Given the description of an element on the screen output the (x, y) to click on. 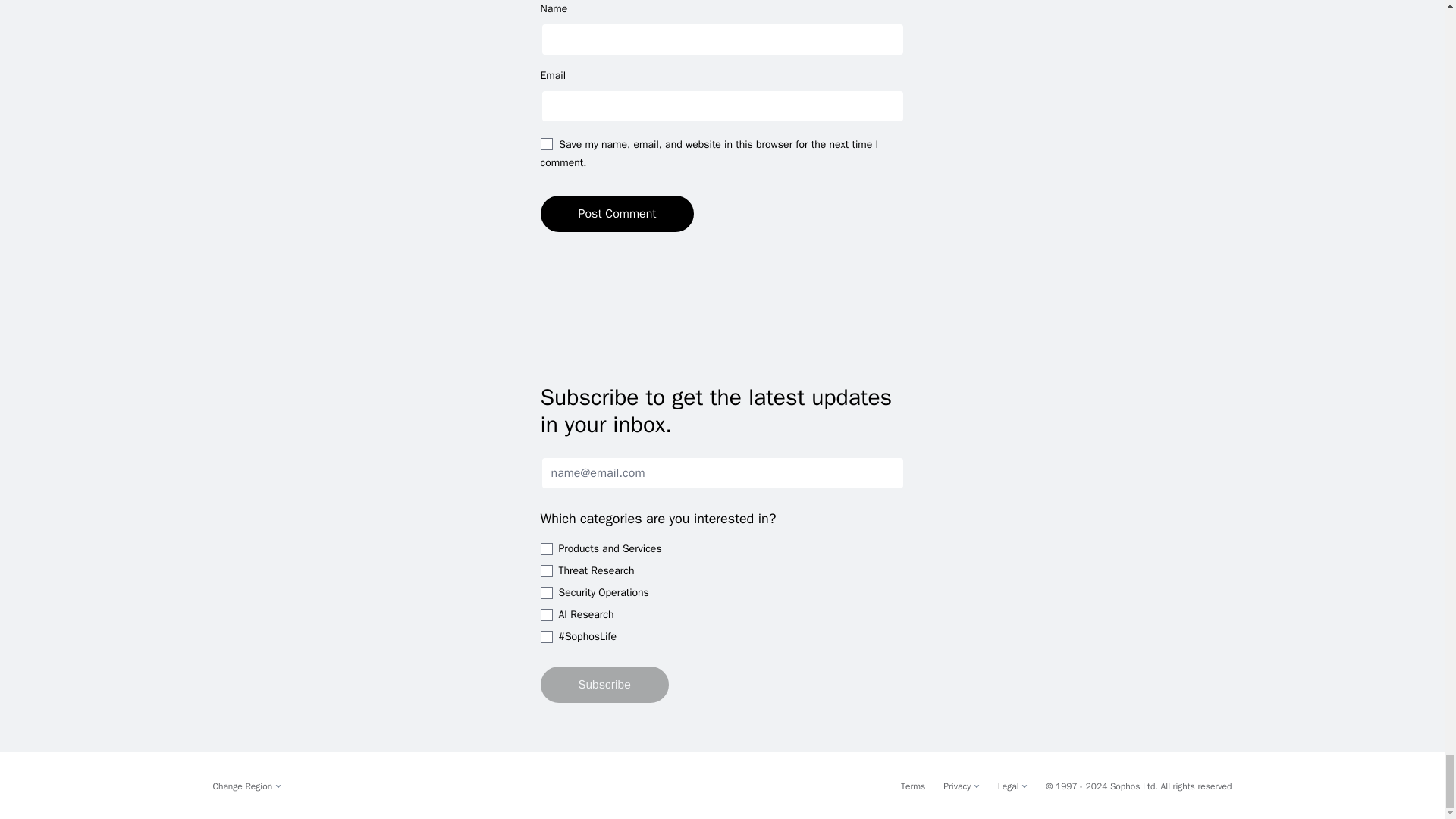
yes (545, 143)
Subscribe (604, 683)
security-operations (545, 592)
ai-research (545, 613)
sophos-life (545, 636)
threat-research (545, 570)
Post Comment (617, 213)
products-services (545, 548)
